Given the description of an element on the screen output the (x, y) to click on. 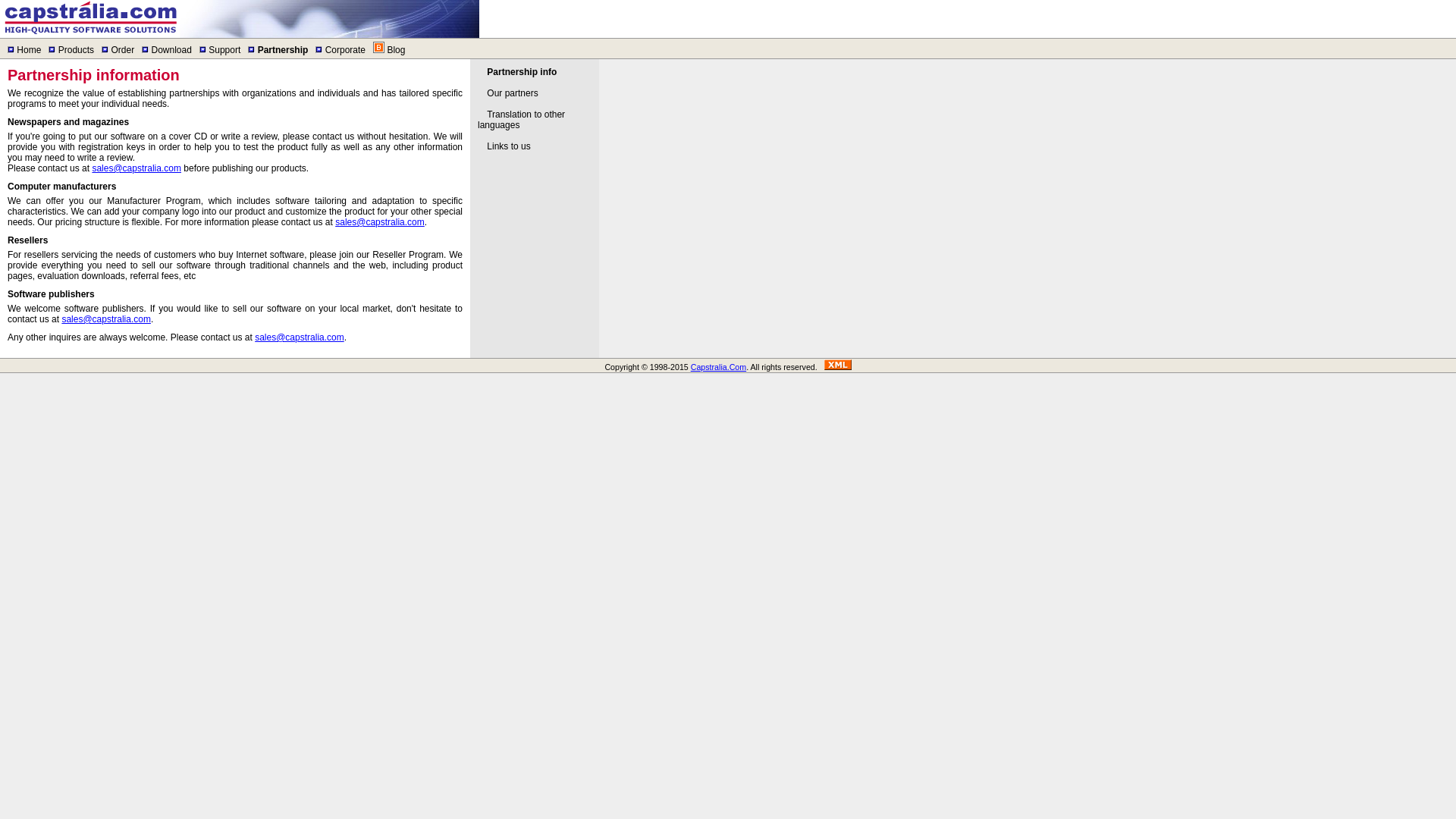
Help us with the translation (520, 119)
Blog (395, 50)
Download (171, 50)
Download center (171, 50)
Capstralia.Com Community Blog (395, 50)
Home (28, 50)
Support (224, 50)
Our online store (121, 50)
Partnership information (282, 50)
Products information (76, 50)
Become our partner (521, 71)
Our partners profiles (511, 92)
Links to us (507, 145)
Translation to other languages (520, 119)
Corporate information (344, 50)
